Given the description of an element on the screen output the (x, y) to click on. 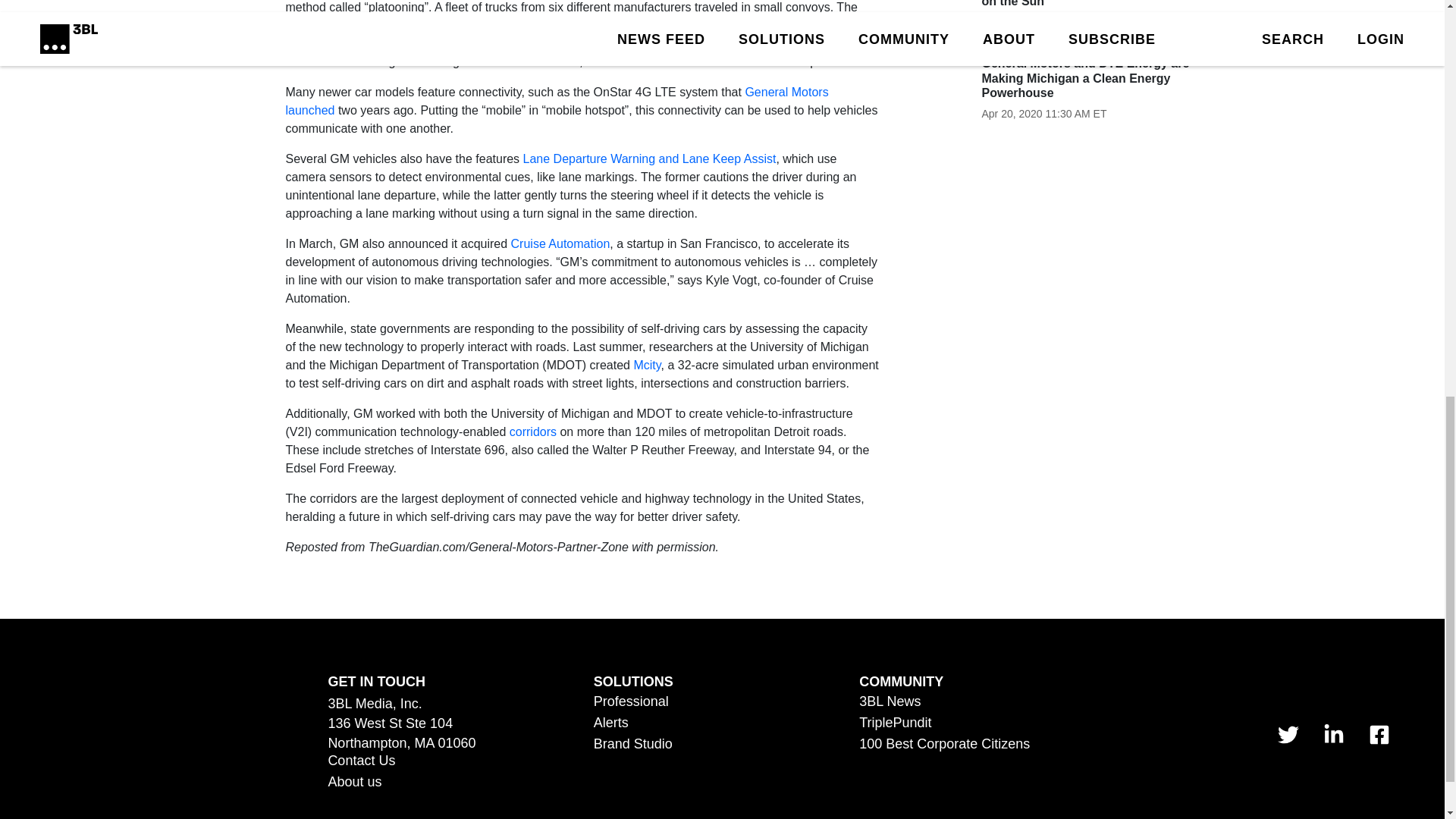
link to 3 B L Media's Facebook (1379, 733)
link to 3 B L Media's Twitter (1288, 733)
link to 3 B L Media's Linkedin (1333, 733)
